Given the description of an element on the screen output the (x, y) to click on. 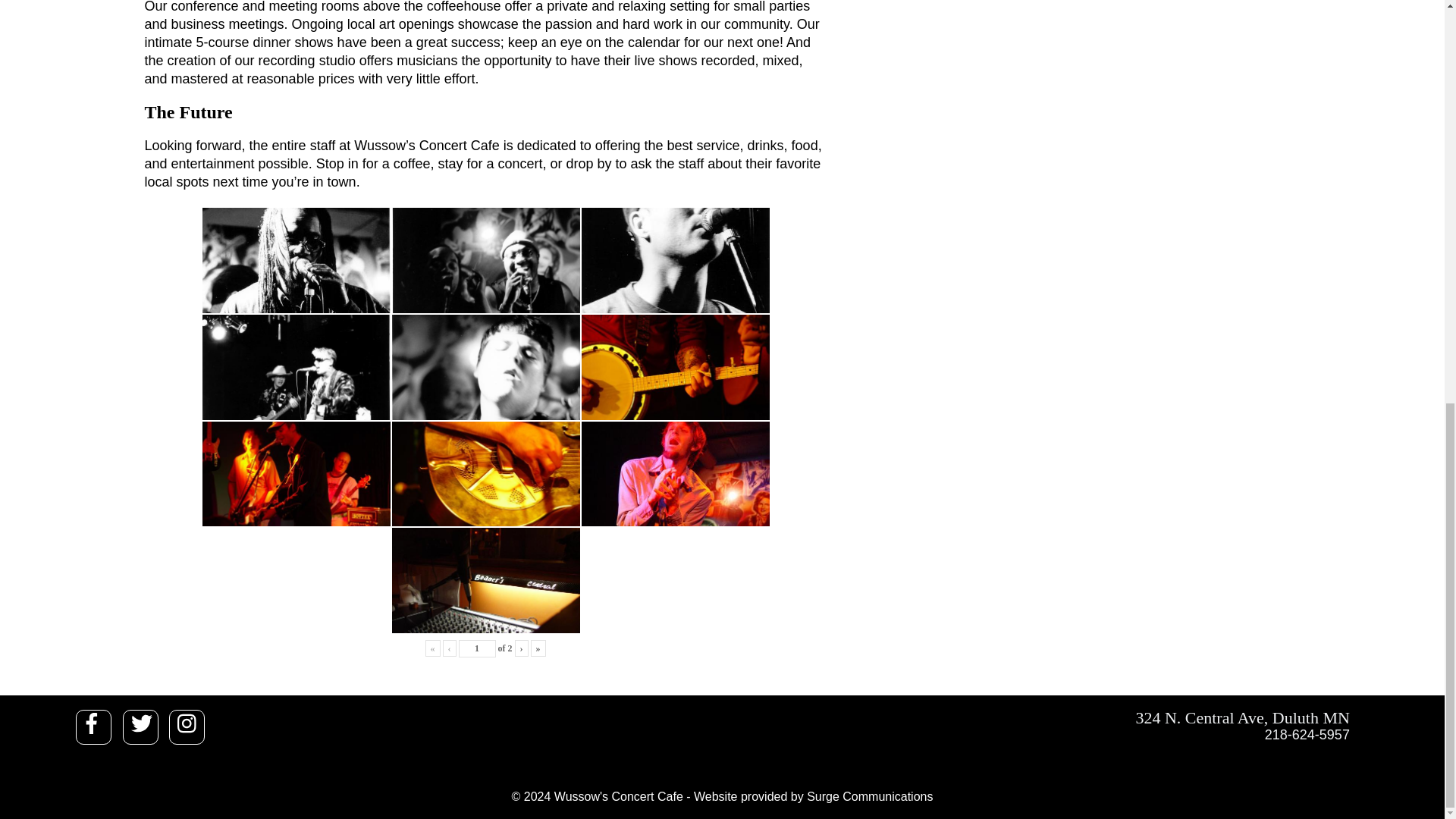
sound board (485, 580)
40 watt bulb (675, 366)
Go to the first page (433, 647)
Super D (296, 367)
1 (477, 648)
Trampled by Turtles (485, 367)
218-624-5957 (907, 734)
dobro (485, 473)
Surge Communications (869, 796)
Soul Profits (485, 260)
Go to the last page (538, 647)
Erik Koskinen (296, 473)
